Given the description of an element on the screen output the (x, y) to click on. 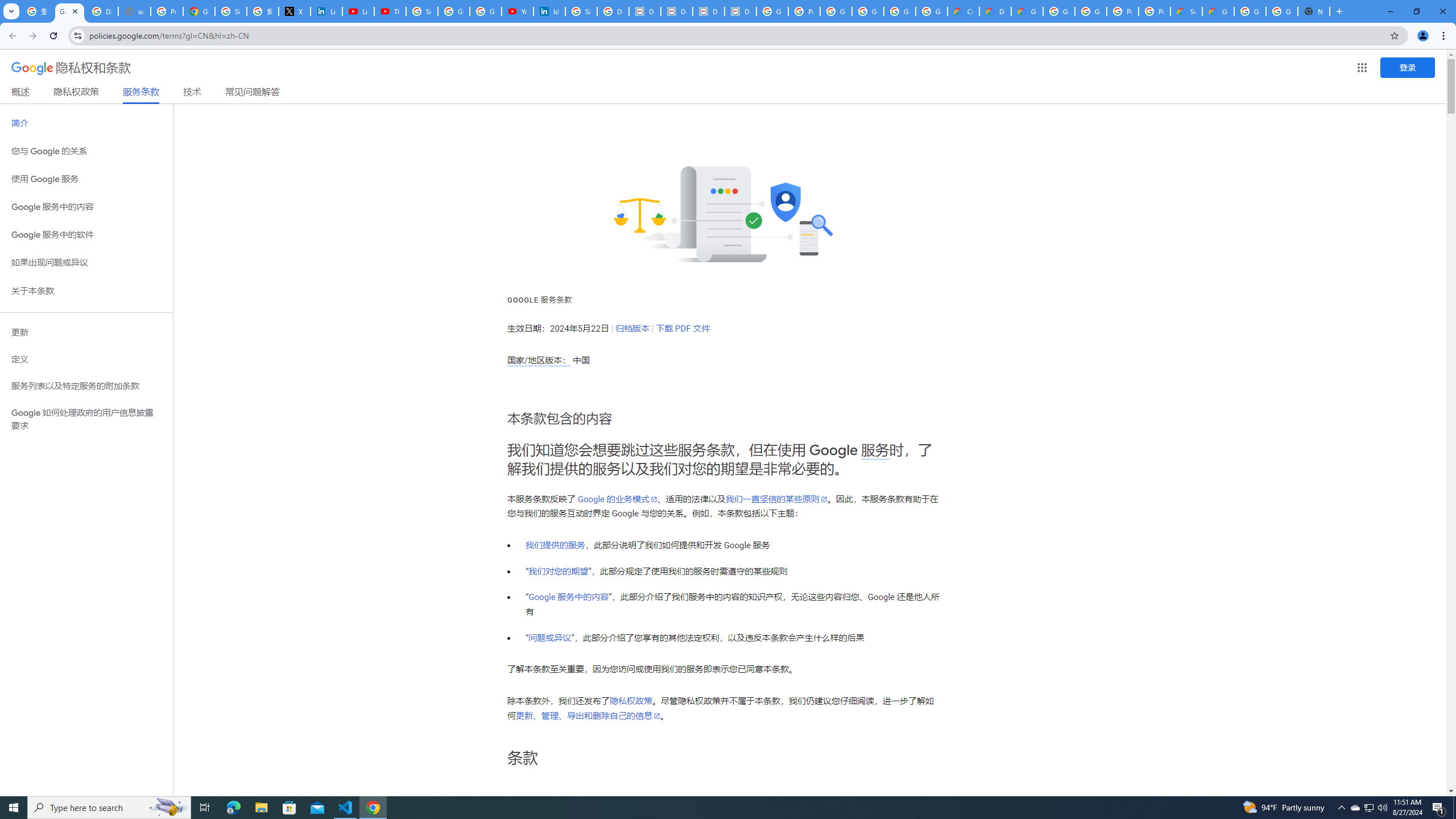
Privacy Help Center - Policies Help (166, 11)
Support Hub | Google Cloud (1185, 11)
Google Cloud Platform (1281, 11)
Sign in - Google Accounts (421, 11)
